Given the description of an element on the screen output the (x, y) to click on. 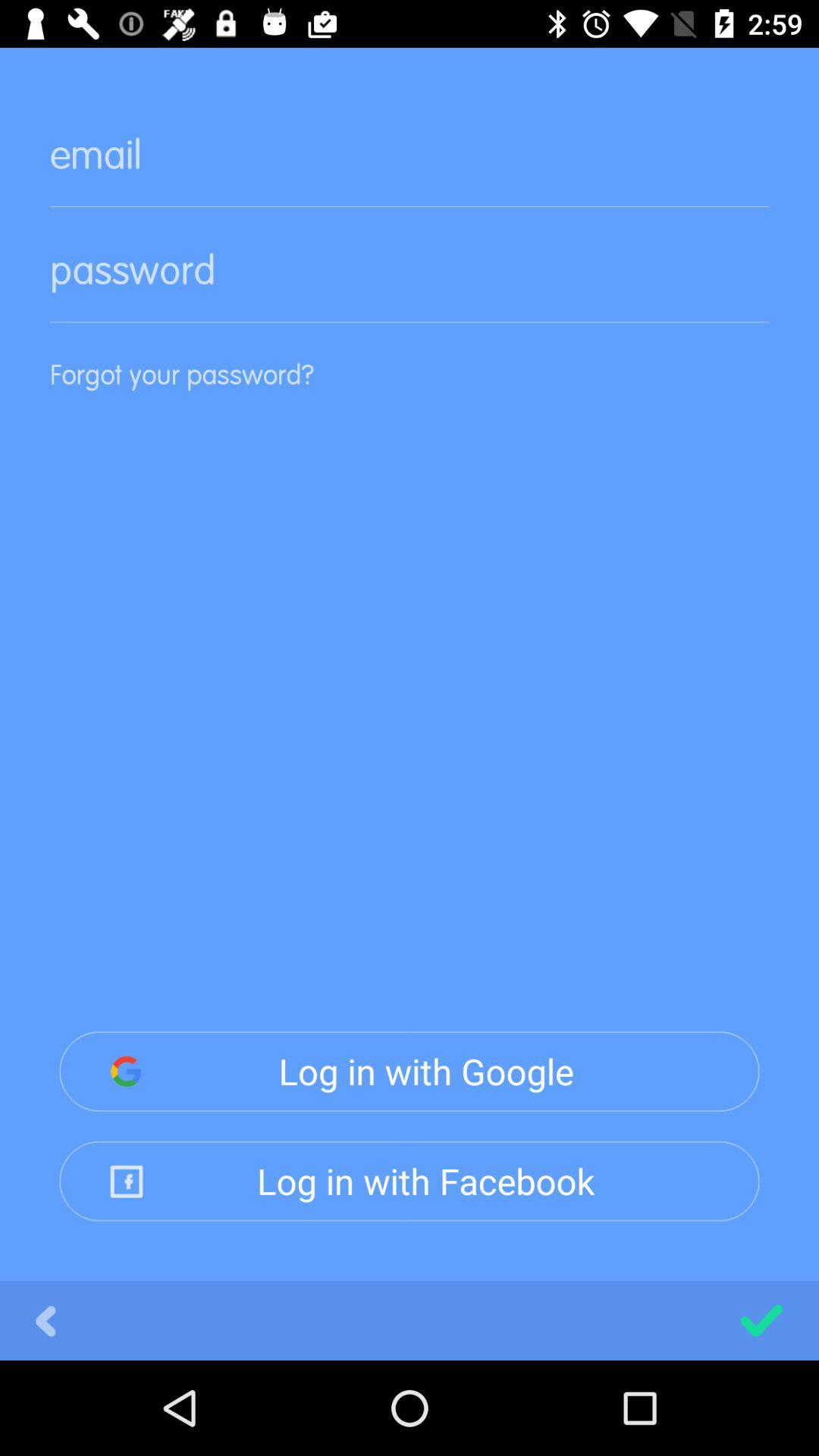
shows empty password box (409, 282)
